Given the description of an element on the screen output the (x, y) to click on. 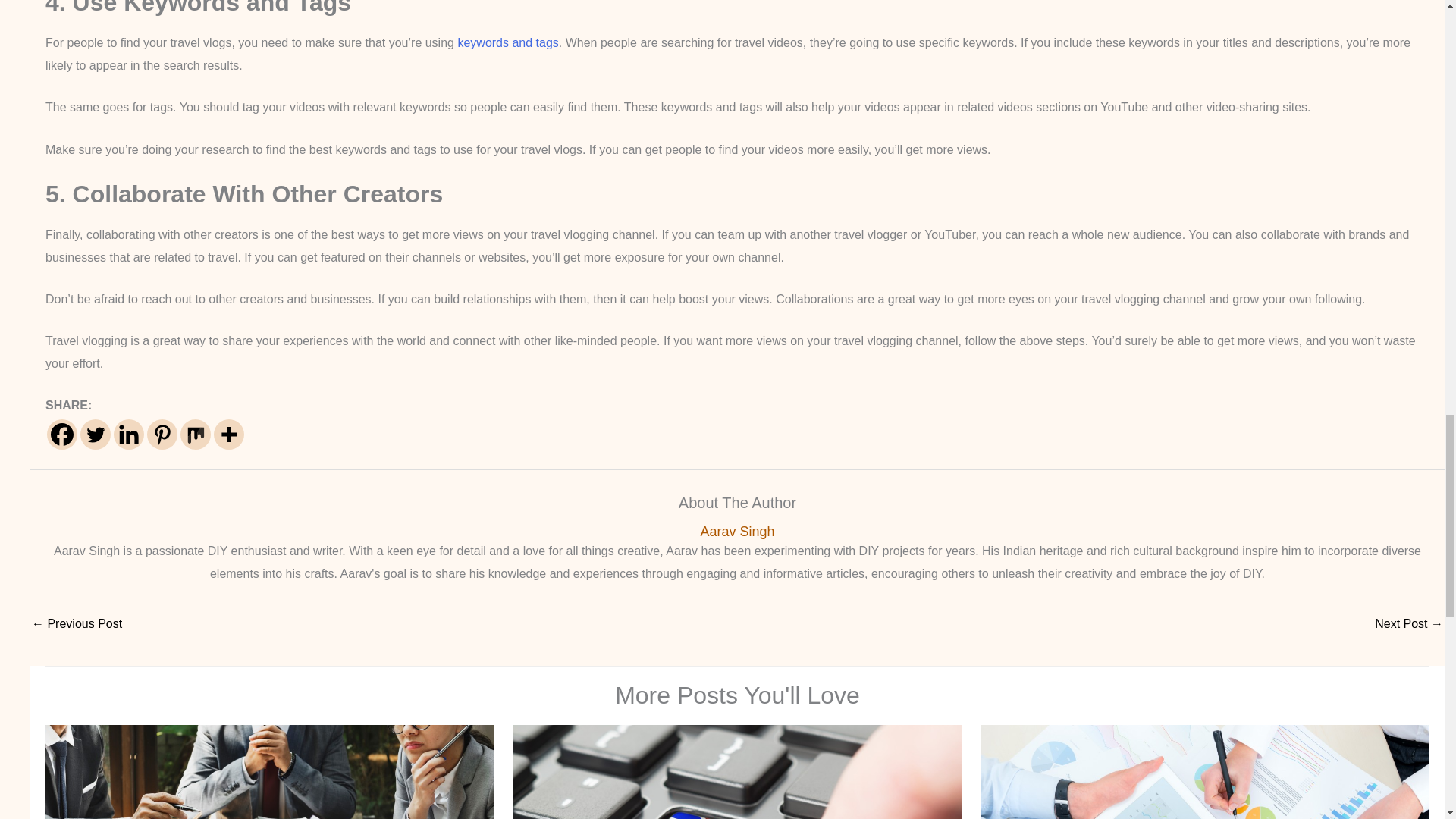
Linkedin (128, 434)
Moving Forward From Losing a Pet: Best Practices (1408, 624)
keywords and tags (507, 42)
Twitter (95, 434)
More (229, 434)
Pinterest (162, 434)
Living a Green Lifestyle: Tips to Follow (77, 624)
Facebook (61, 434)
Mix (195, 434)
